Given the description of an element on the screen output the (x, y) to click on. 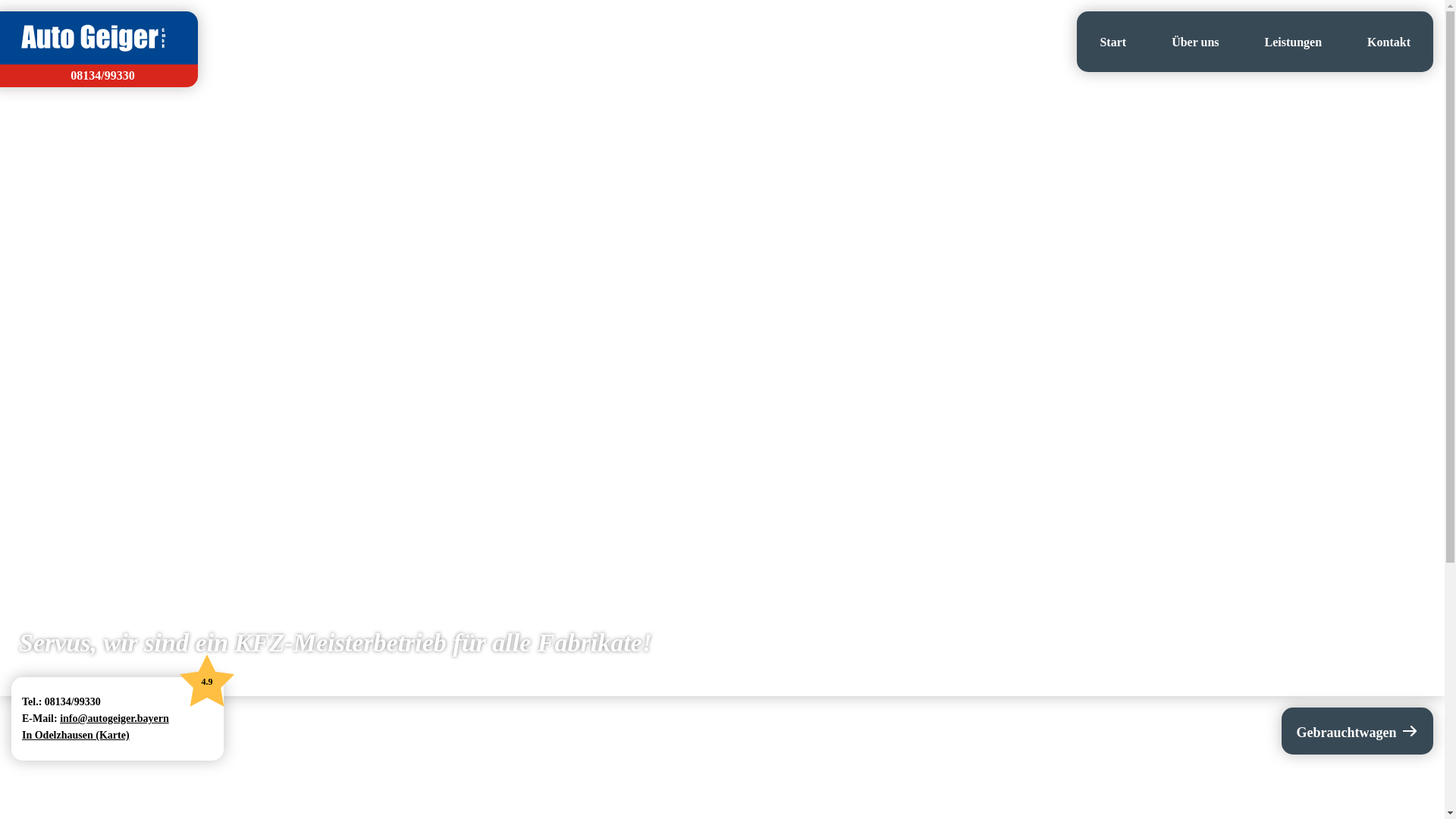
info@autogeiger.bayern Element type: text (114, 718)
Start Element type: text (1112, 42)
Gebrauchtwagen Element type: text (1357, 730)
08134/99330 Element type: text (92, 75)
In Odelzhausen (Karte) Element type: text (79, 734)
Kontakt Element type: text (1388, 42)
Leistungen Element type: text (1293, 42)
